Given the description of an element on the screen output the (x, y) to click on. 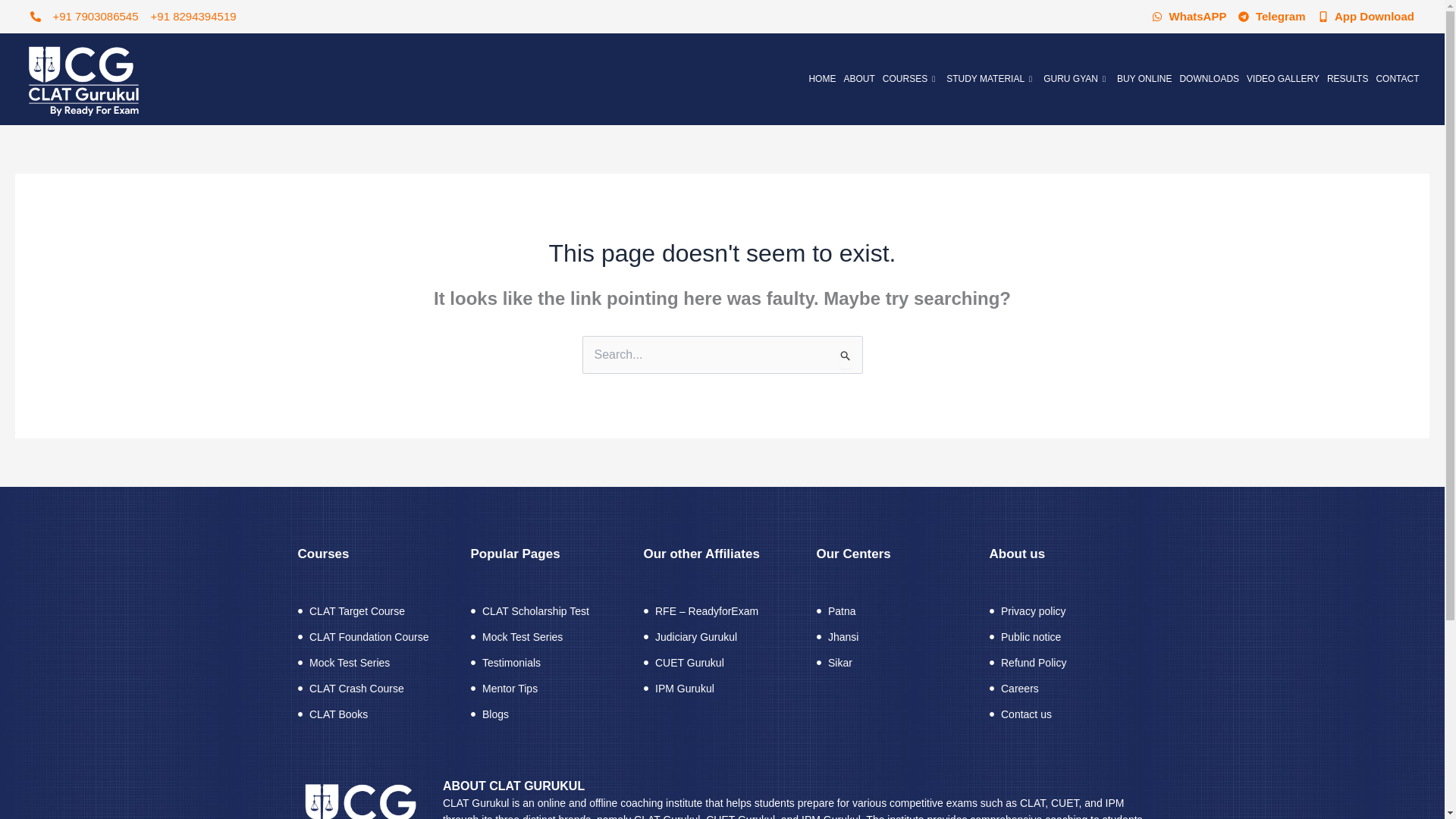
STUDY MATERIAL (990, 79)
HOME (822, 79)
DOWNLOADS (1208, 79)
CONTACT (1396, 79)
GURU GYAN (1076, 79)
COURSES (910, 79)
VIDEO GALLERY (1283, 79)
RESULTS (1347, 79)
CLAT Foundation Course (375, 636)
CLAT Target Course (375, 610)
